Given the description of an element on the screen output the (x, y) to click on. 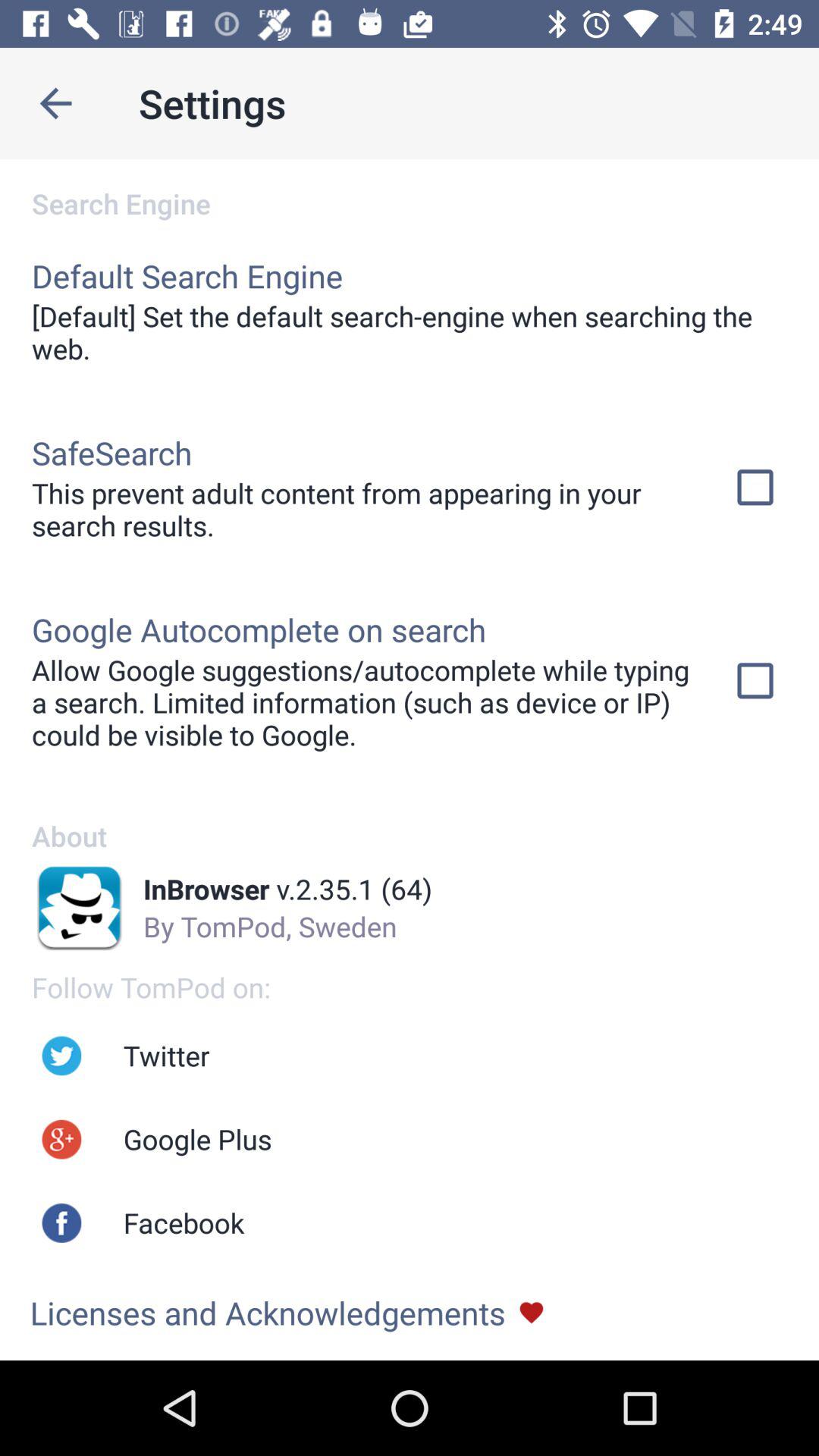
select icon above licenses and acknowledgements app (183, 1222)
